Given the description of an element on the screen output the (x, y) to click on. 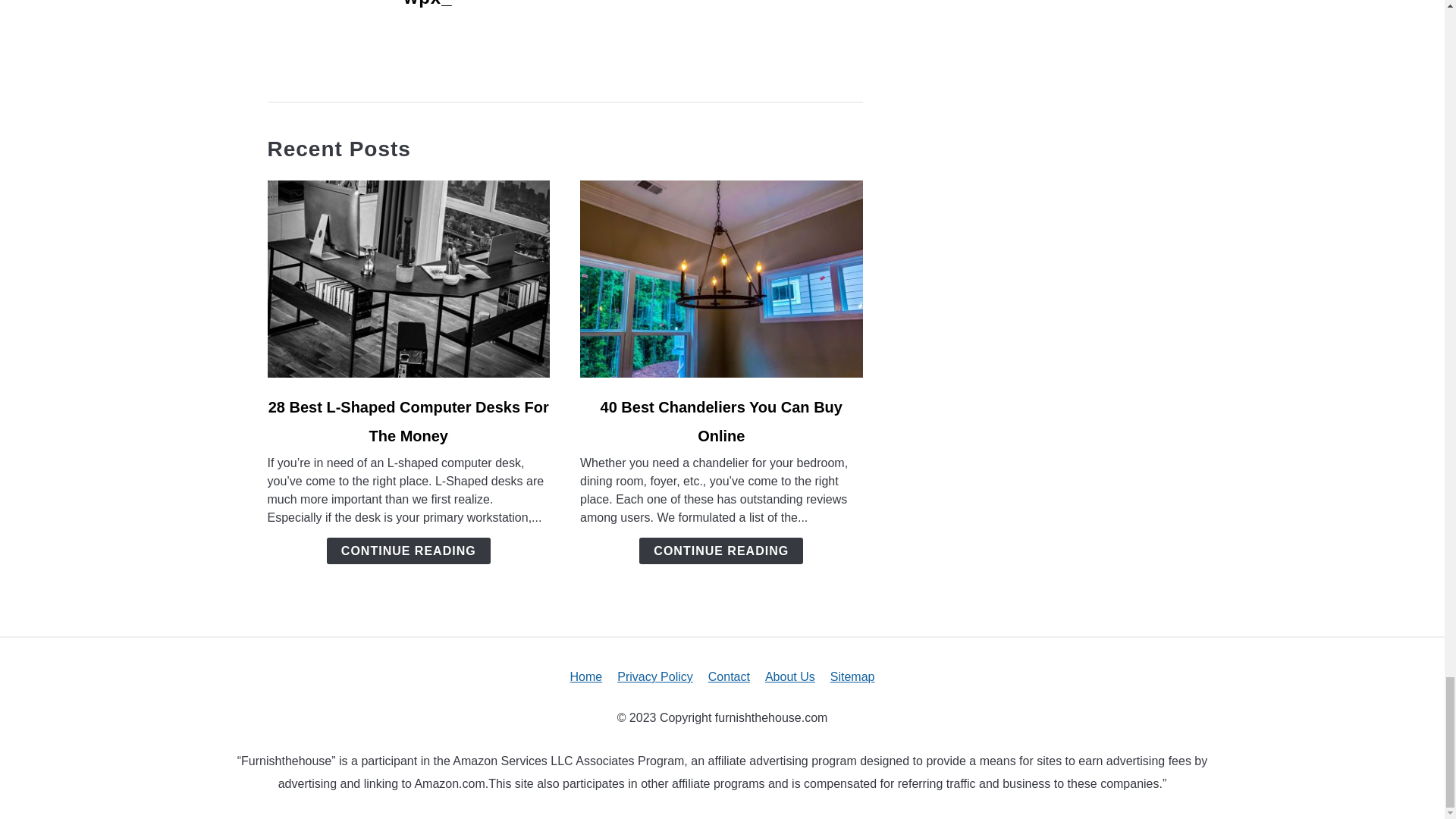
Contact (728, 676)
Home (586, 676)
Sitemap (852, 676)
link to 28 Best L-Shaped Computer Desks For The Money (408, 278)
Privacy Policy (655, 676)
CONTINUE READING (408, 550)
About Us (790, 676)
CONTINUE READING (721, 550)
40 Best Chandeliers You Can Buy Online (721, 421)
link to 40 Best Chandeliers You Can Buy Online (721, 278)
